Given the description of an element on the screen output the (x, y) to click on. 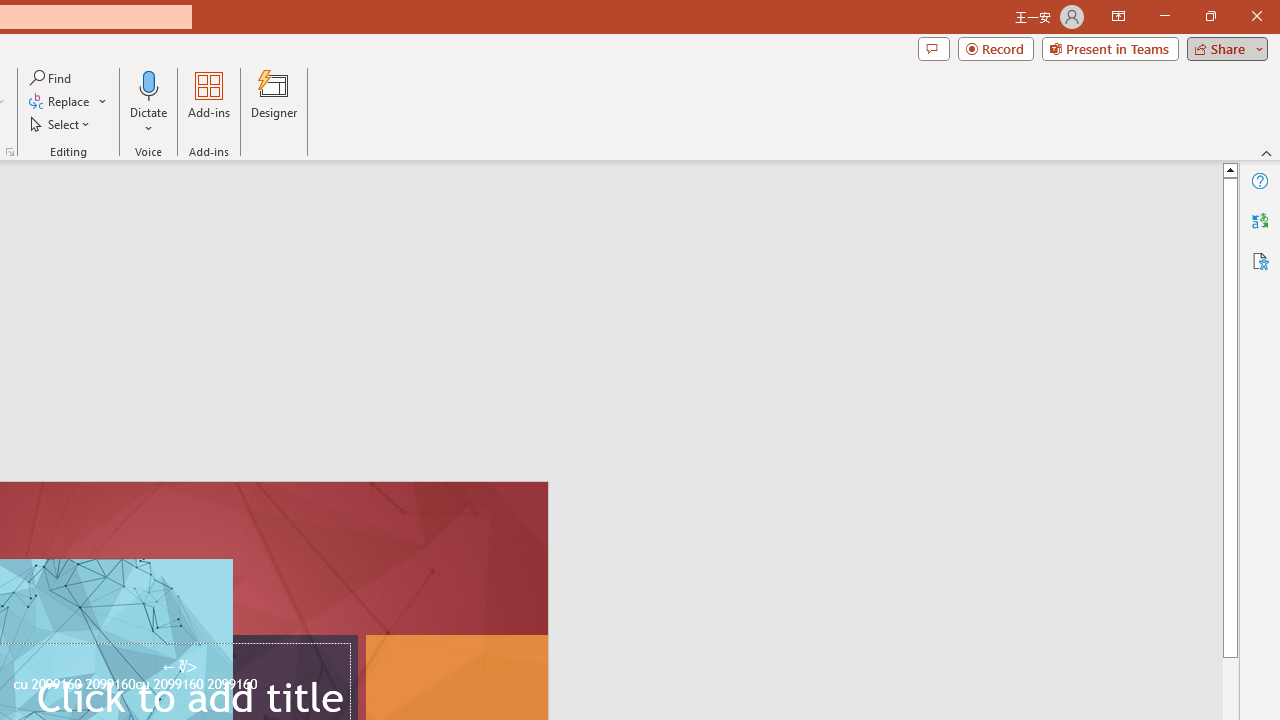
Find... (51, 78)
Format Object... (9, 151)
TextBox 7 (179, 667)
